Given the description of an element on the screen output the (x, y) to click on. 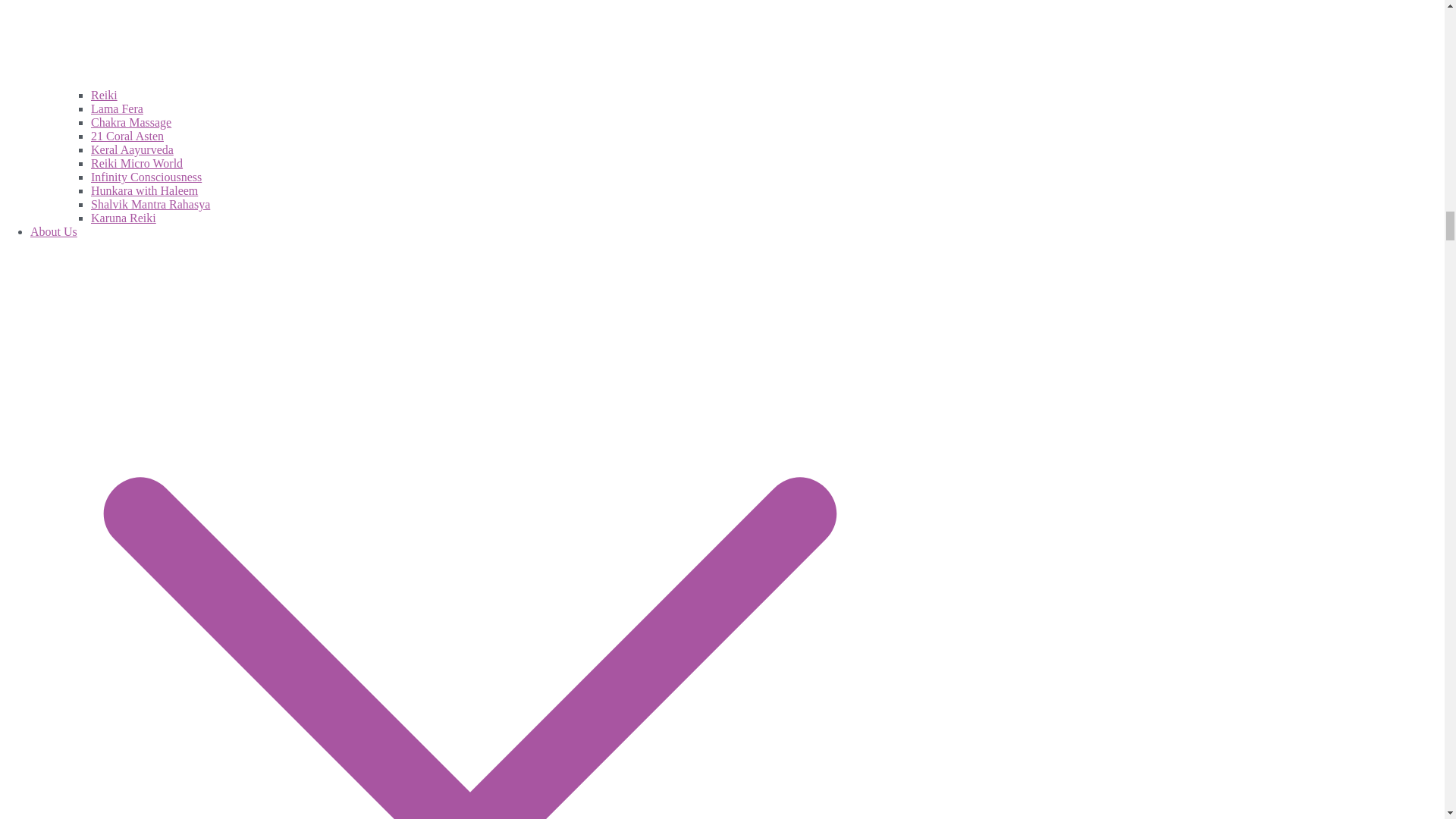
Reiki (103, 94)
Keral Aayurveda (131, 149)
21 Coral Asten (126, 135)
Chakra Massage (130, 122)
Healing Courses (485, 43)
Reiki Micro World (136, 163)
Lama Fera (116, 108)
